Given the description of an element on the screen output the (x, y) to click on. 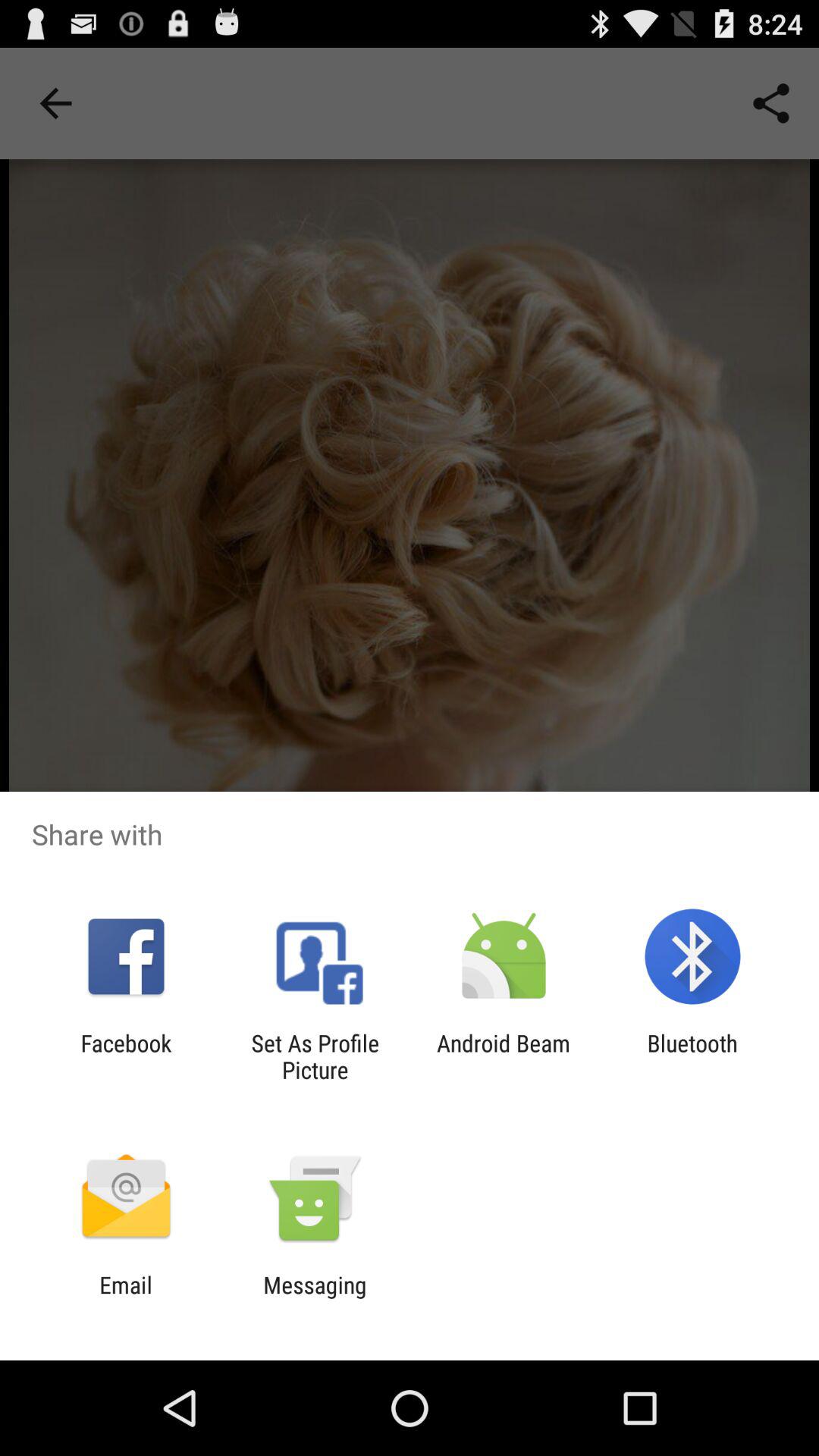
press bluetooth at the bottom right corner (692, 1056)
